Given the description of an element on the screen output the (x, y) to click on. 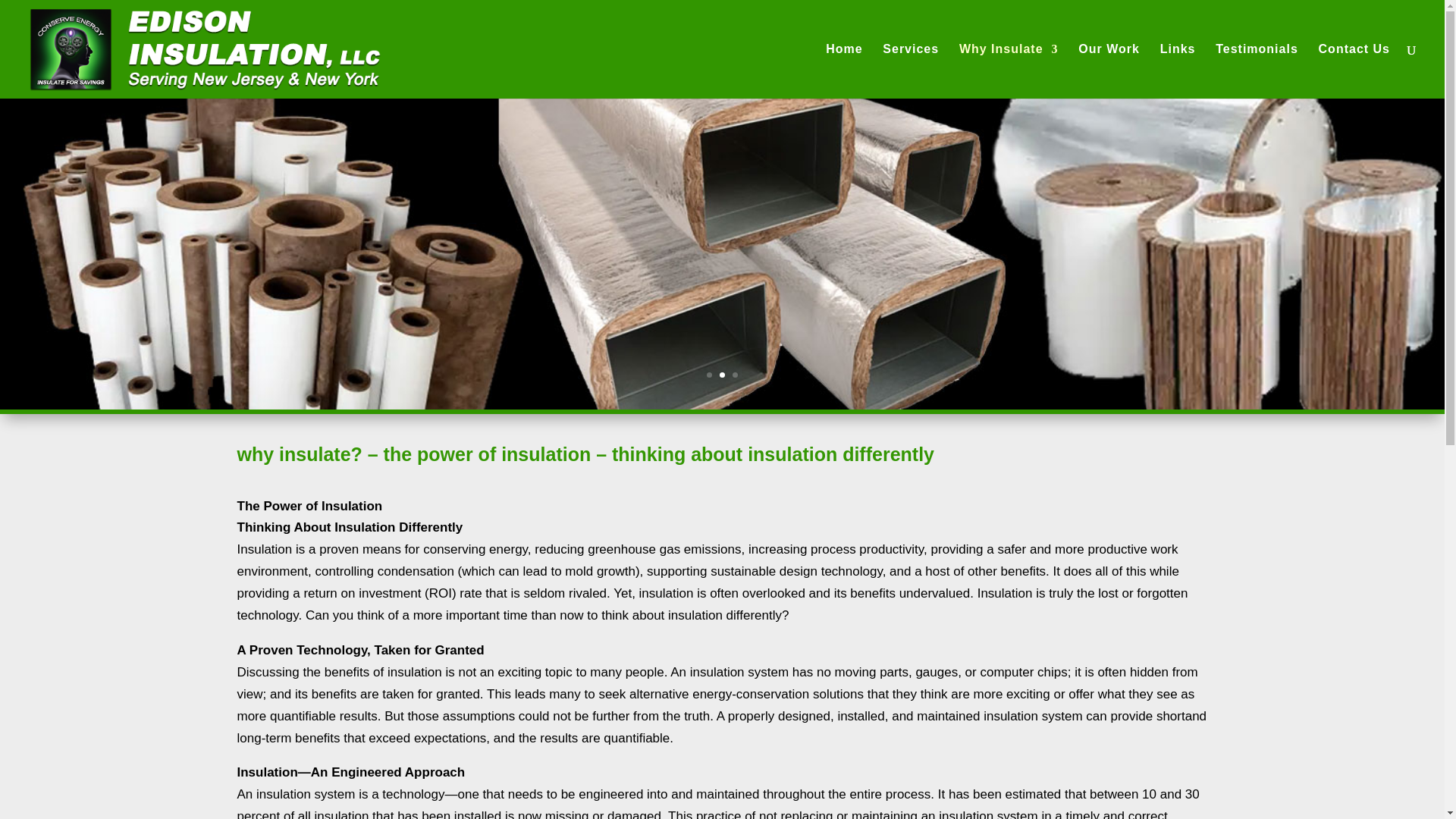
Links (1177, 71)
Our Work (1109, 71)
Why Insulate (1008, 71)
Contact Us (1354, 71)
Testimonials (1256, 71)
Services (910, 71)
Home (843, 71)
